Given the description of an element on the screen output the (x, y) to click on. 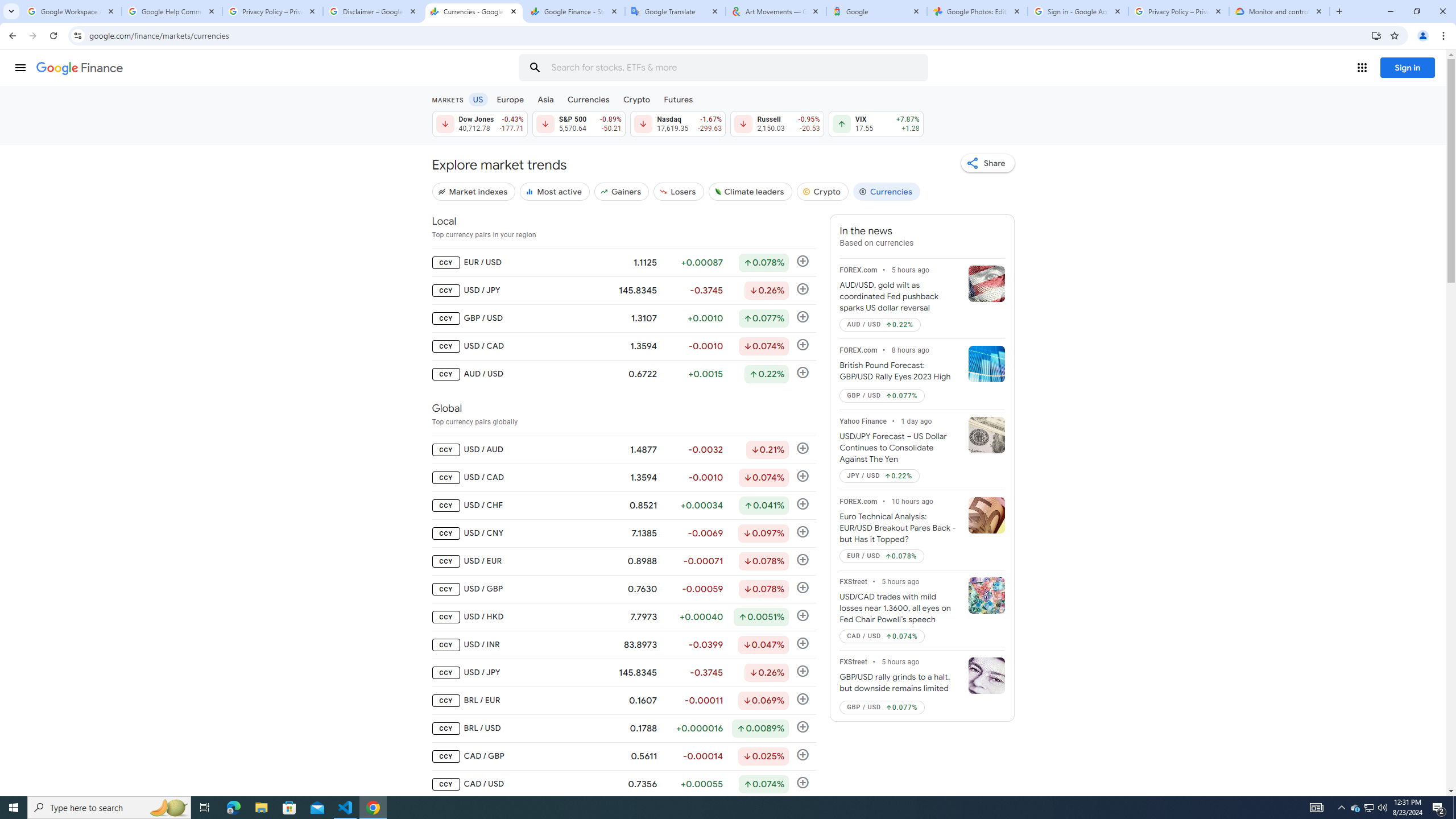
Sign in - Google Accounts (1078, 11)
US (477, 99)
Google (876, 11)
CAD / USD Up by 0.074% (883, 635)
CCY GBP / USD 1.3107 +0.0010 Up by 0.077% Follow (623, 318)
CCY BRL / USD 0.1788 +0.000016 Up by 0.0089% Follow (623, 728)
